Given the description of an element on the screen output the (x, y) to click on. 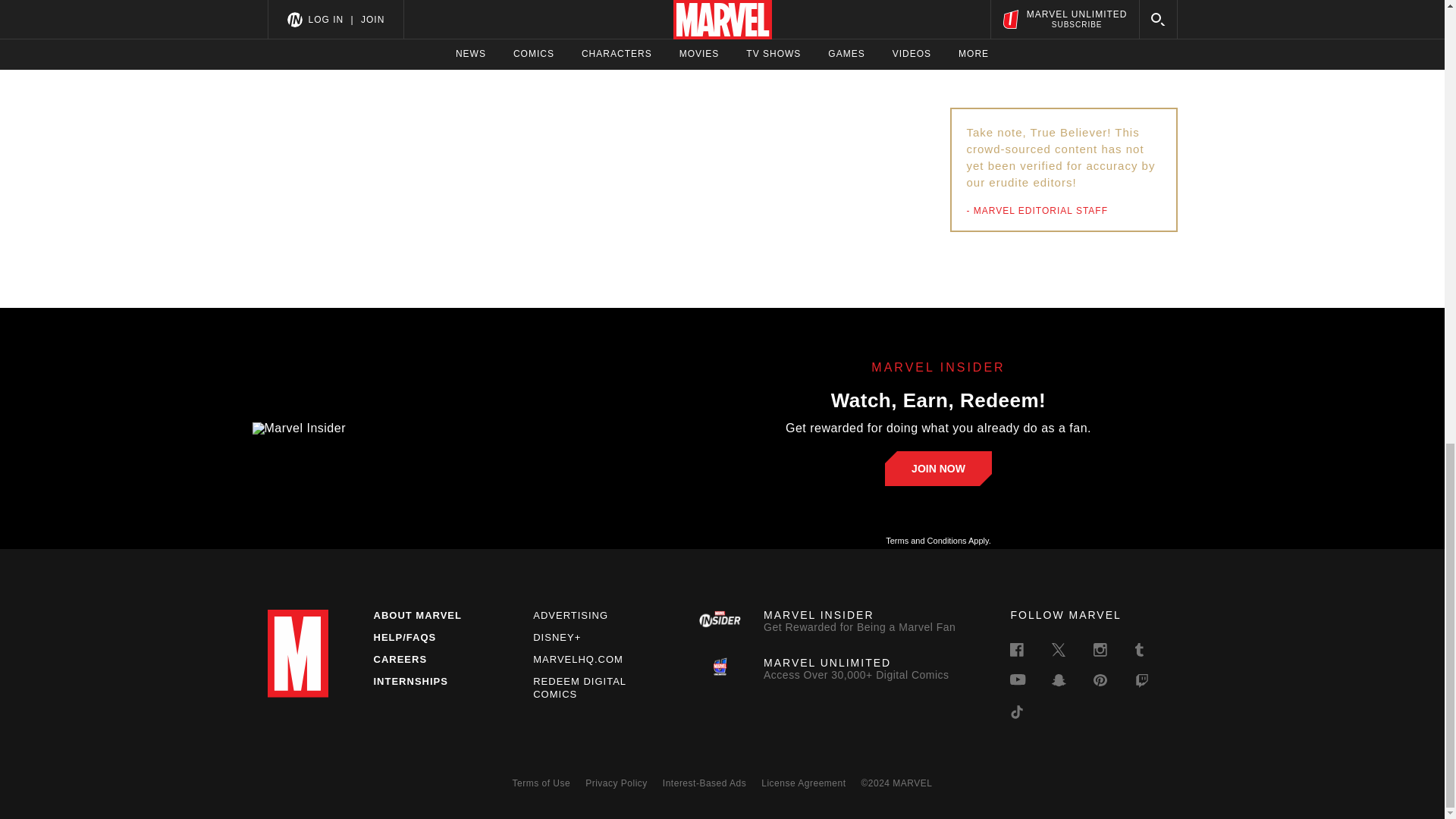
CAREERS (399, 659)
ABOUT MARVEL (416, 614)
ADVERTISING (828, 621)
JOIN NOW (570, 614)
REDEEM DIGITAL COMICS (938, 468)
MARVELHQ.COM (579, 687)
INTERNSHIPS (577, 659)
